Given the description of an element on the screen output the (x, y) to click on. 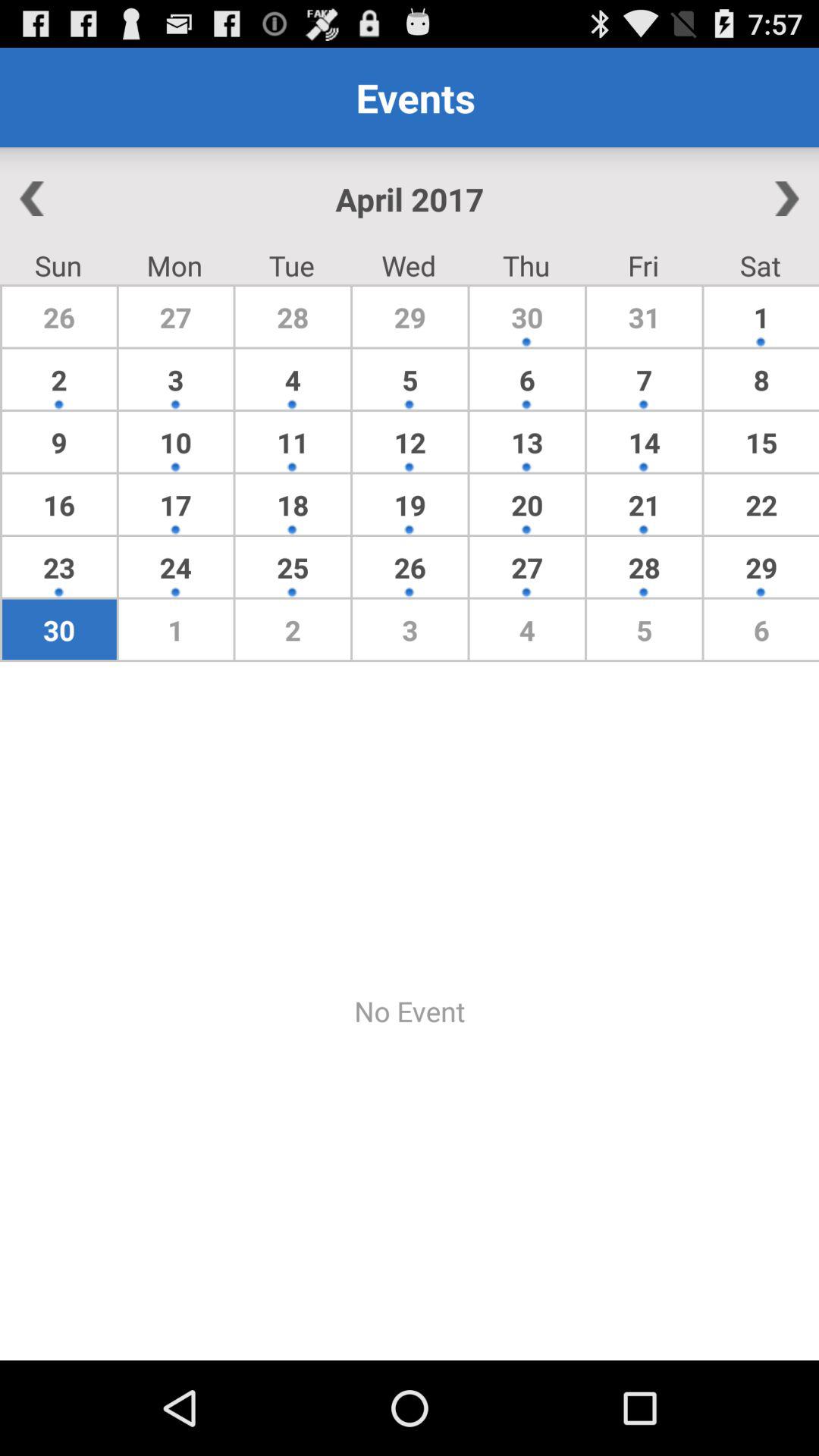
press the item to the right of the 11 app (409, 504)
